Given the description of an element on the screen output the (x, y) to click on. 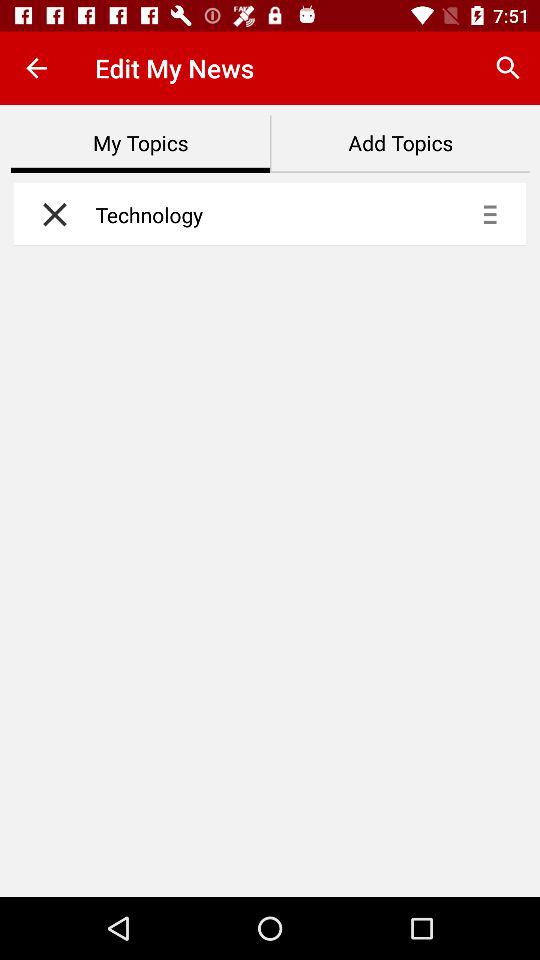
launch icon to the left of the technology (49, 214)
